Given the description of an element on the screen output the (x, y) to click on. 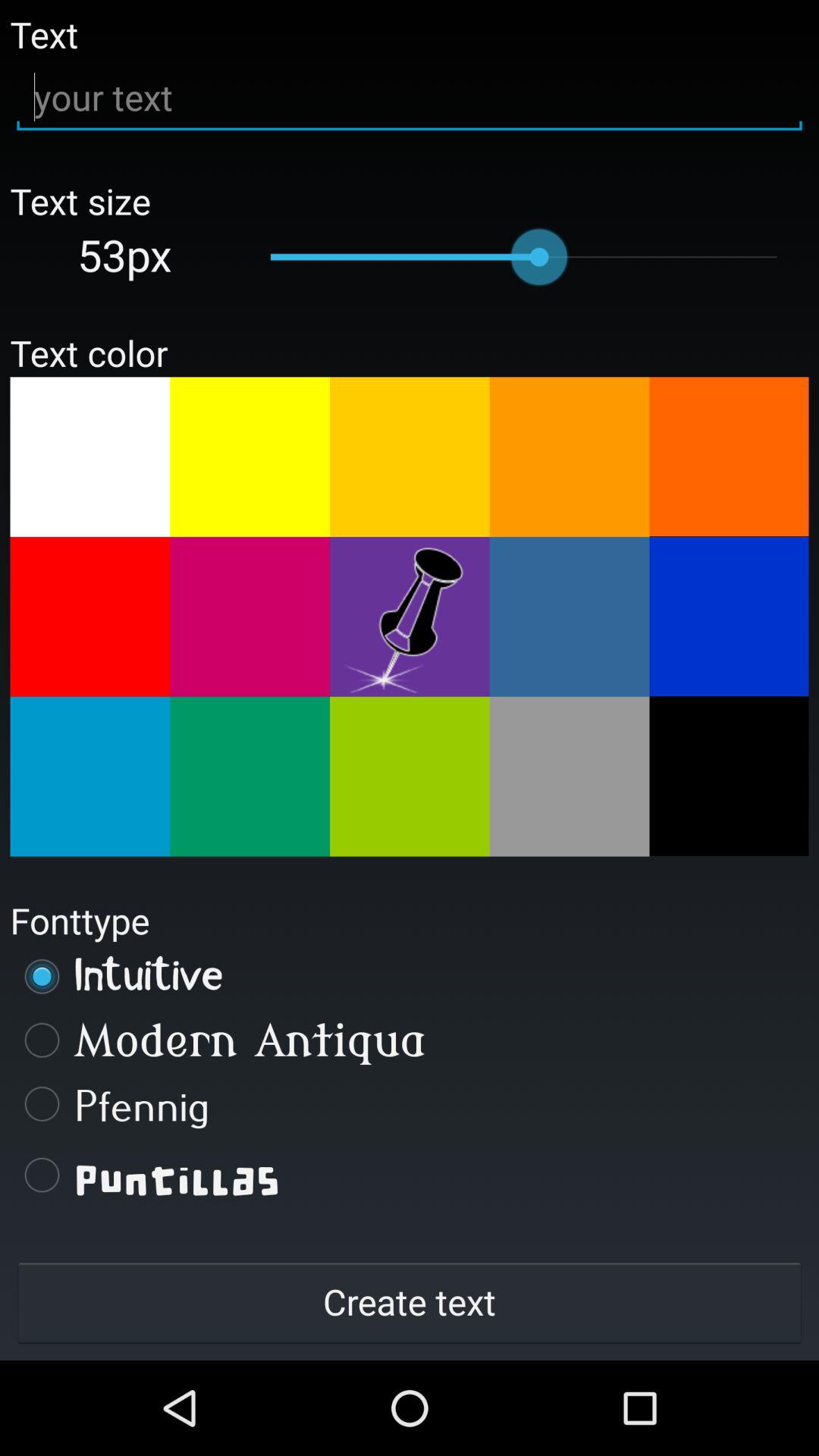
choose text color (249, 776)
